Given the description of an element on the screen output the (x, y) to click on. 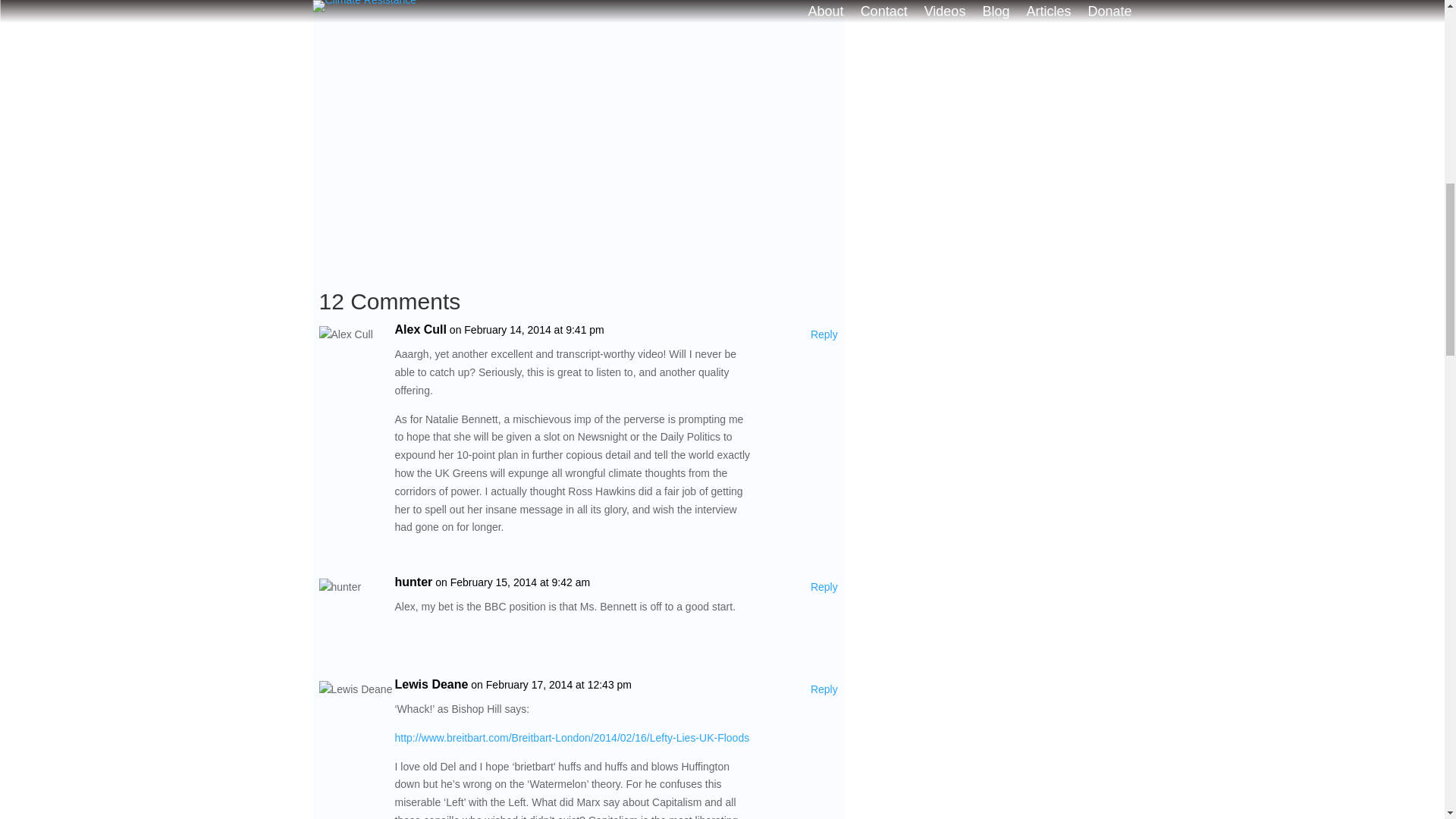
Alex Cull (419, 330)
Reply (824, 334)
Reply (824, 689)
Reply (824, 587)
